Given the description of an element on the screen output the (x, y) to click on. 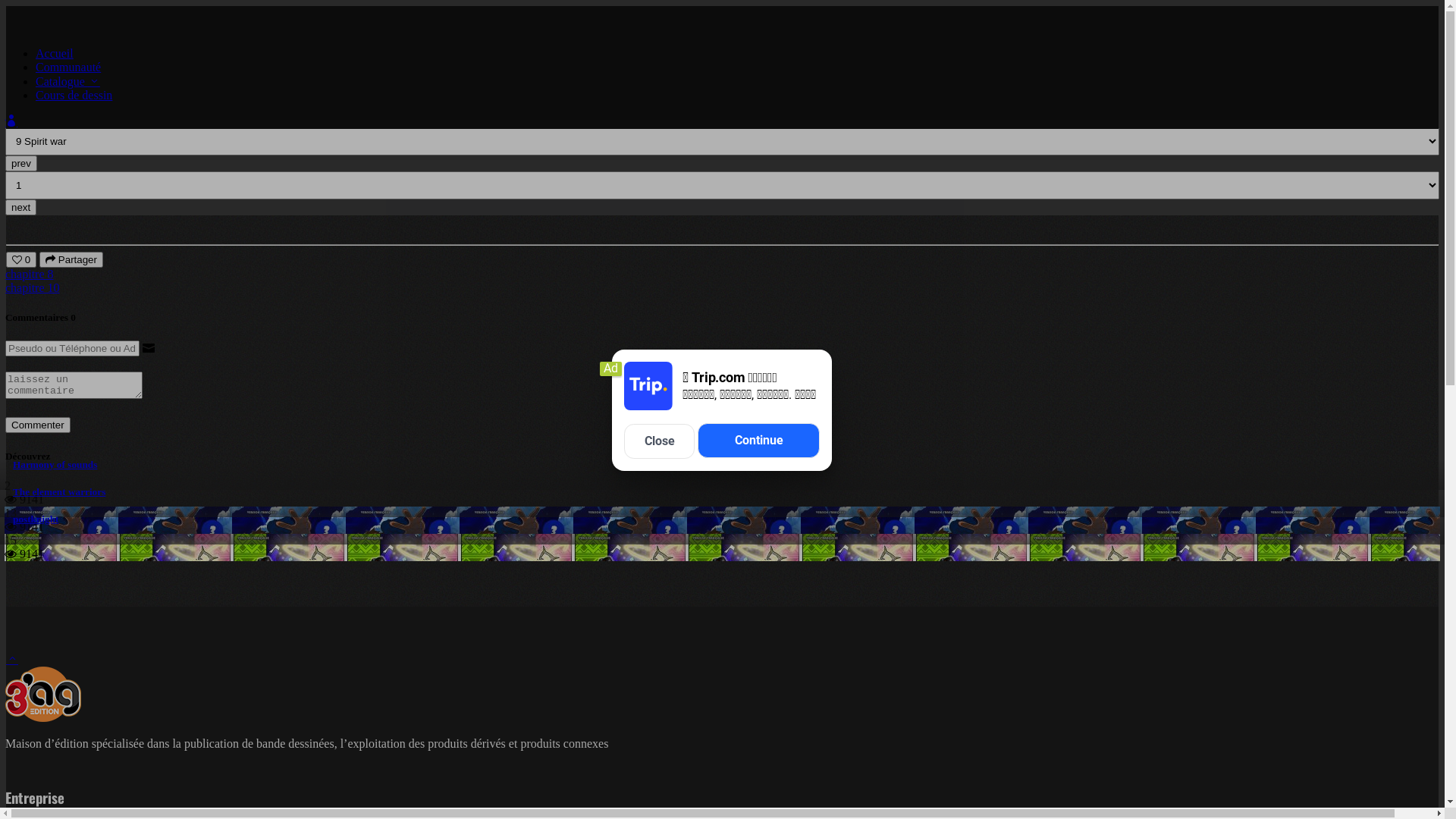
15
9141
postknight Element type: text (722, 547)
Harmony of sounds Element type: text (54, 464)
next Element type: text (20, 207)
Commenter Element type: text (37, 425)
The element warriors Element type: text (58, 491)
Accueil Element type: text (54, 53)
0 Element type: text (21, 259)
Partager Element type: text (71, 259)
chapitre 10 Element type: text (32, 287)
prev Element type: text (21, 163)
13
9141
The element warriors Element type: text (722, 519)
2
9141
Harmony of sounds Element type: text (722, 492)
Catalogue Element type: text (67, 81)
chapitre 8 Element type: text (29, 273)
Concours Oneshot Element type: text (117, 119)
Cours de dessin Element type: text (73, 94)
Catalogue Element type: text (44, 119)
postknight Element type: text (35, 518)
